Given the description of an element on the screen output the (x, y) to click on. 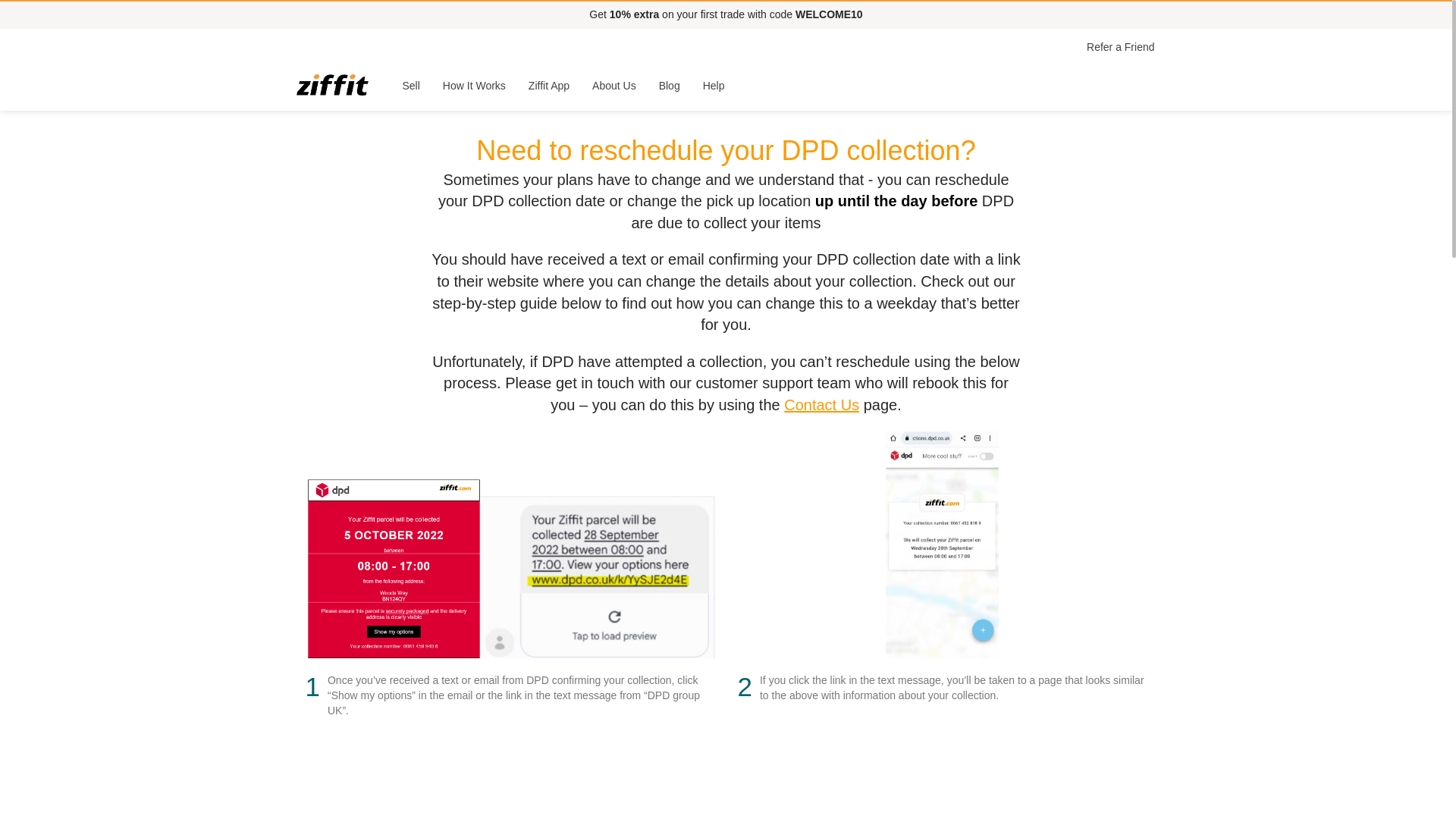
Help (713, 85)
Blog (669, 85)
Ziffit App (548, 85)
About Us (613, 85)
Refer a Friend (1120, 46)
Contact Us (821, 404)
How It Works (473, 85)
